Given the description of an element on the screen output the (x, y) to click on. 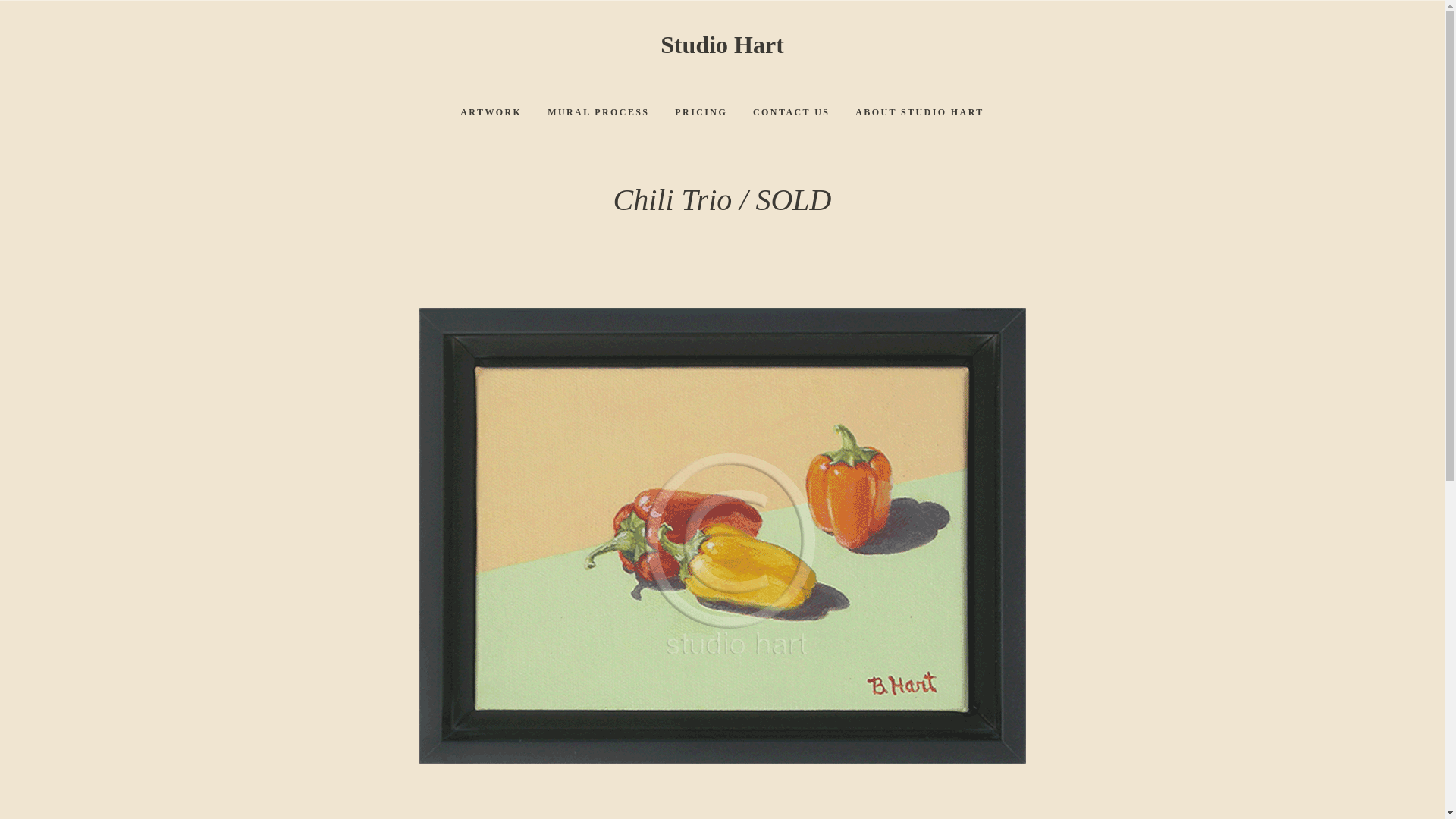
CONTACT US (791, 112)
ARTWORK (490, 112)
Studio Hart (722, 44)
PRICING (700, 112)
MURAL PROCESS (598, 112)
ABOUT STUDIO HART (919, 112)
